Given the description of an element on the screen output the (x, y) to click on. 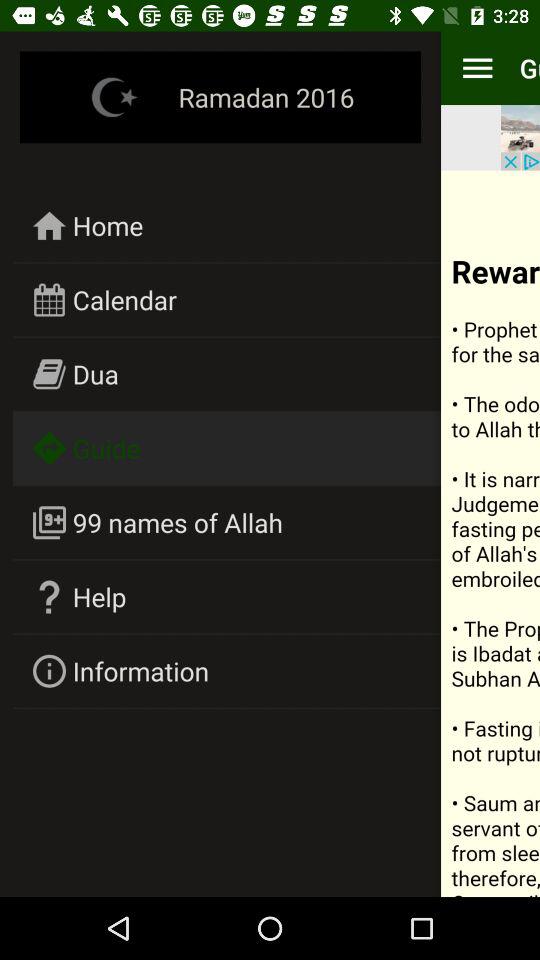
advertisement (520, 137)
